Given the description of an element on the screen output the (x, y) to click on. 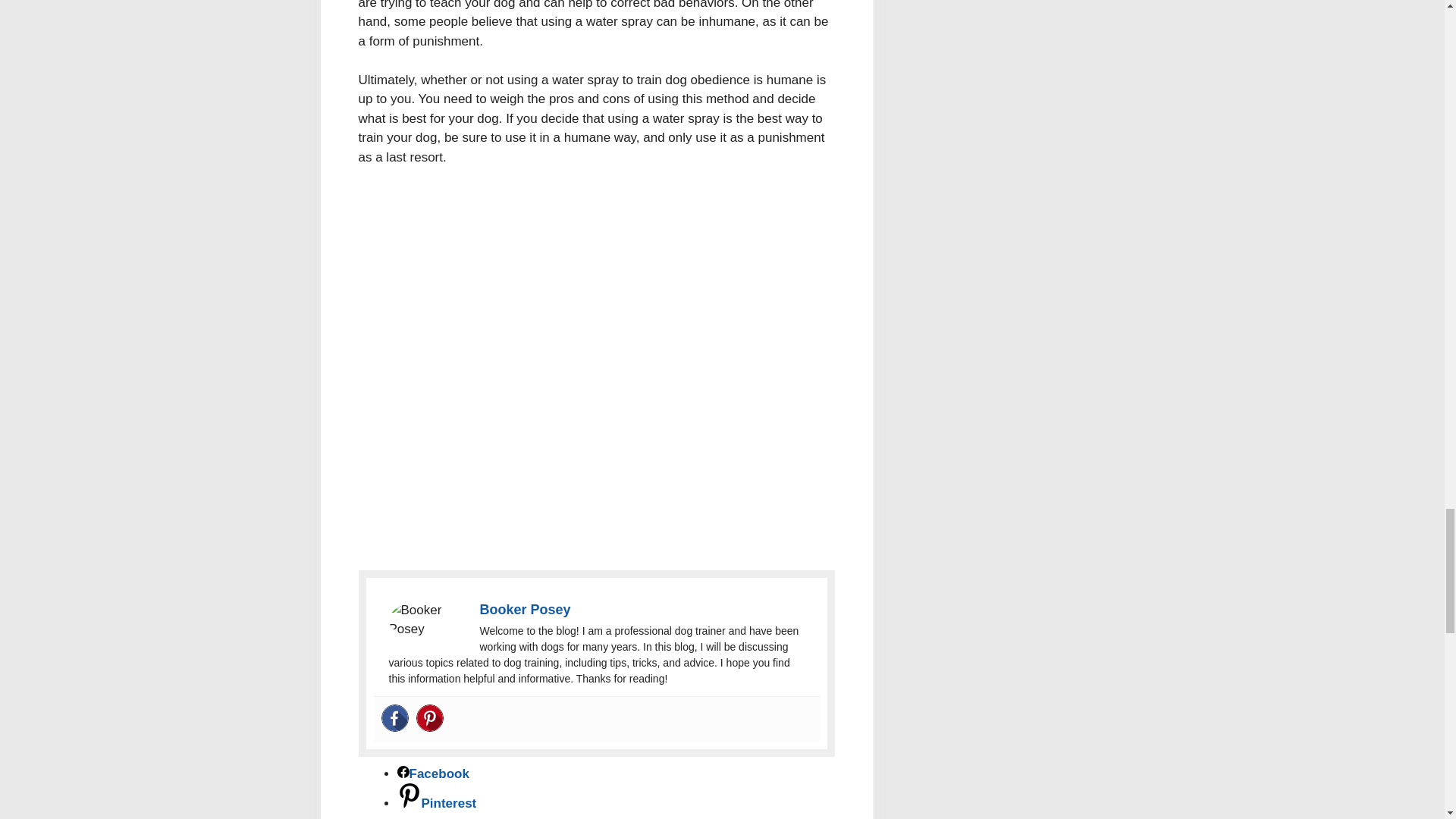
Facebook (393, 718)
Share on Facebook (432, 773)
Share on Pinterest (437, 803)
Can Spray Bottles Be Used To Train Dogs 2 (426, 619)
Pinterest (428, 718)
